Given the description of an element on the screen output the (x, y) to click on. 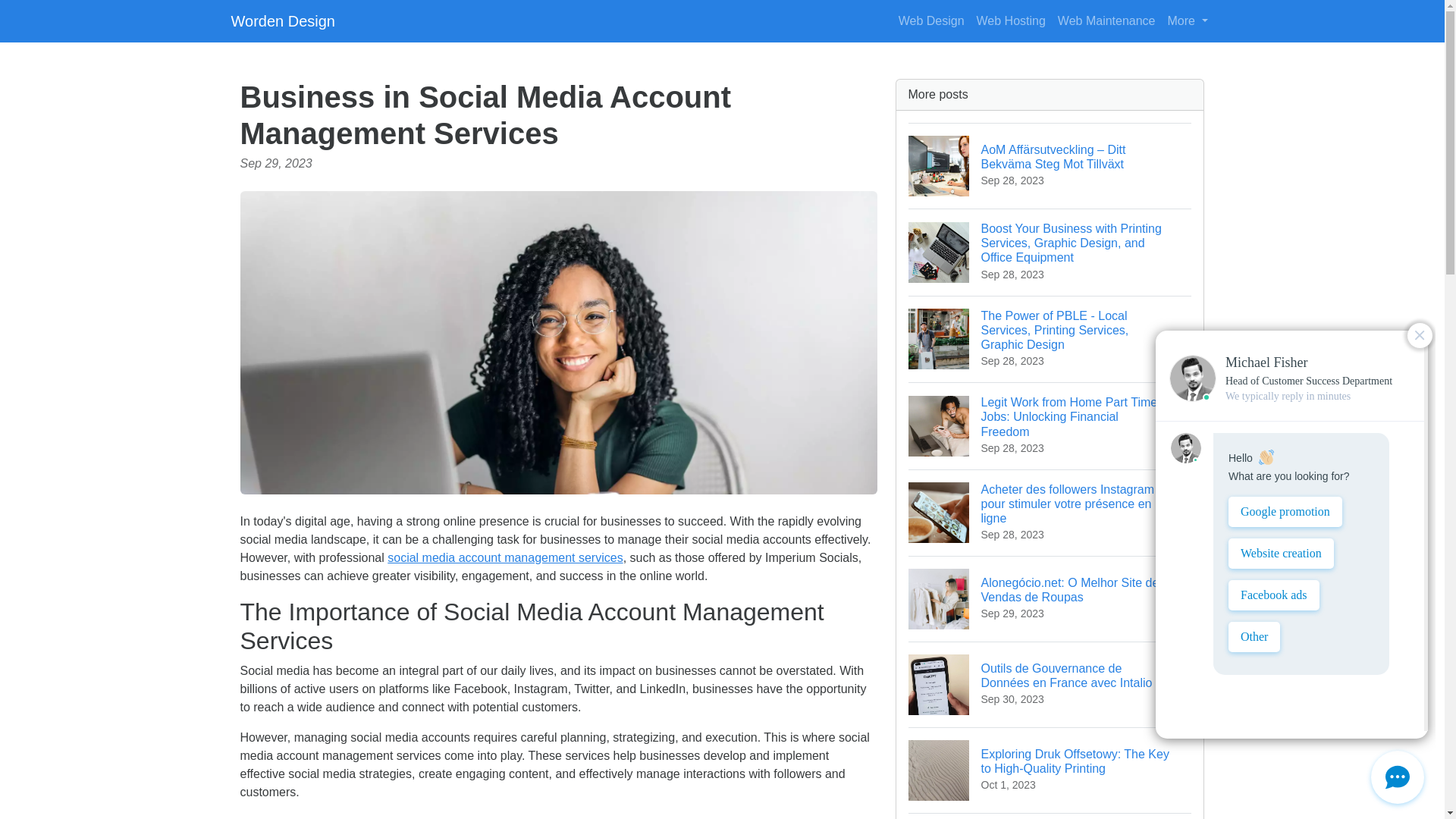
social media account management services (505, 557)
Web Maintenance (1106, 20)
Worden Design (282, 20)
Web Hosting (1011, 20)
Web Design (931, 20)
More (1050, 816)
